Given the description of an element on the screen output the (x, y) to click on. 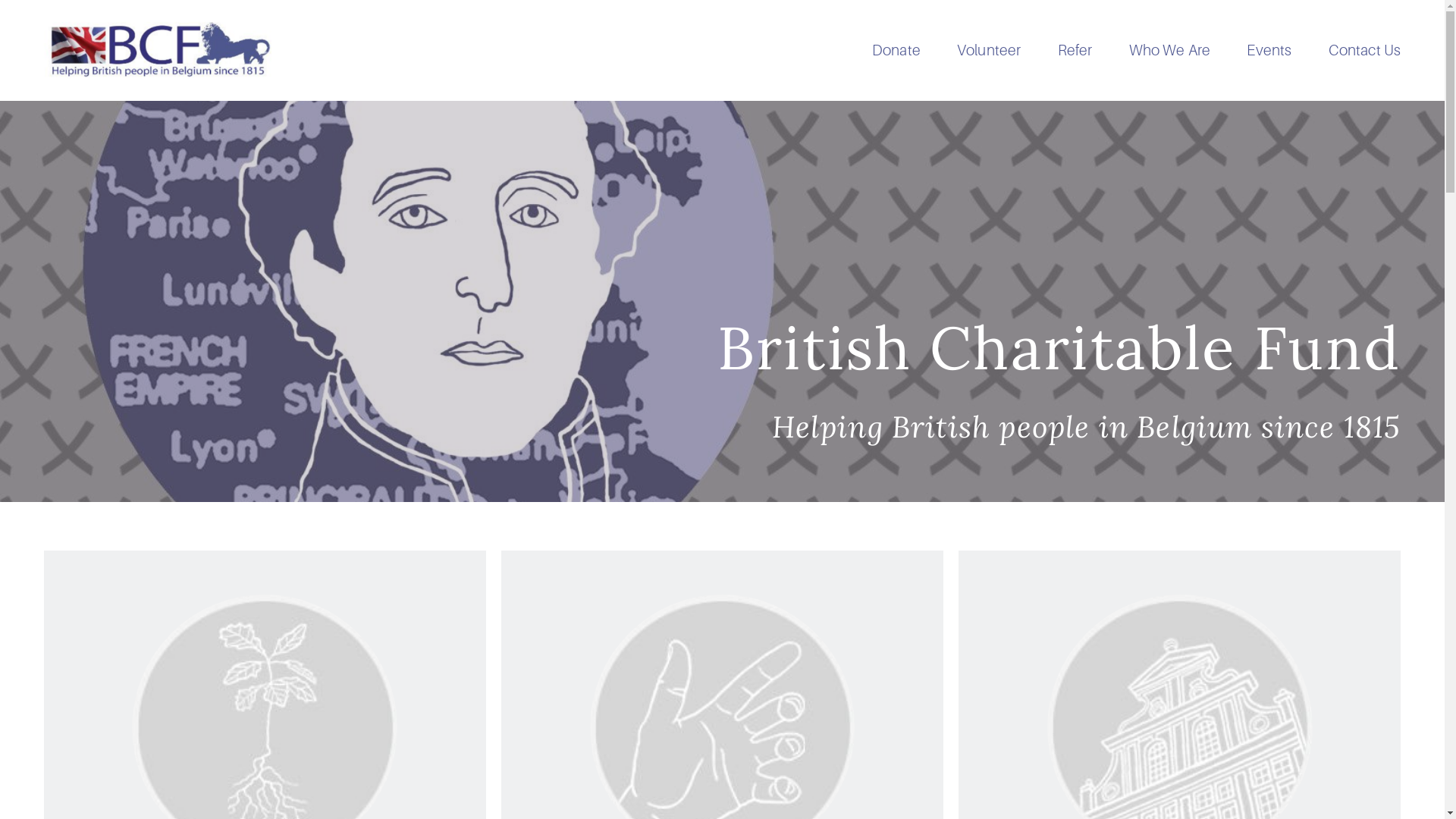
Refer Element type: text (1074, 49)
Events Element type: text (1268, 49)
Donate Element type: text (896, 49)
Volunteer Element type: text (989, 49)
Contact Us Element type: text (1364, 49)
Who We Are Element type: text (1170, 49)
